Given the description of an element on the screen output the (x, y) to click on. 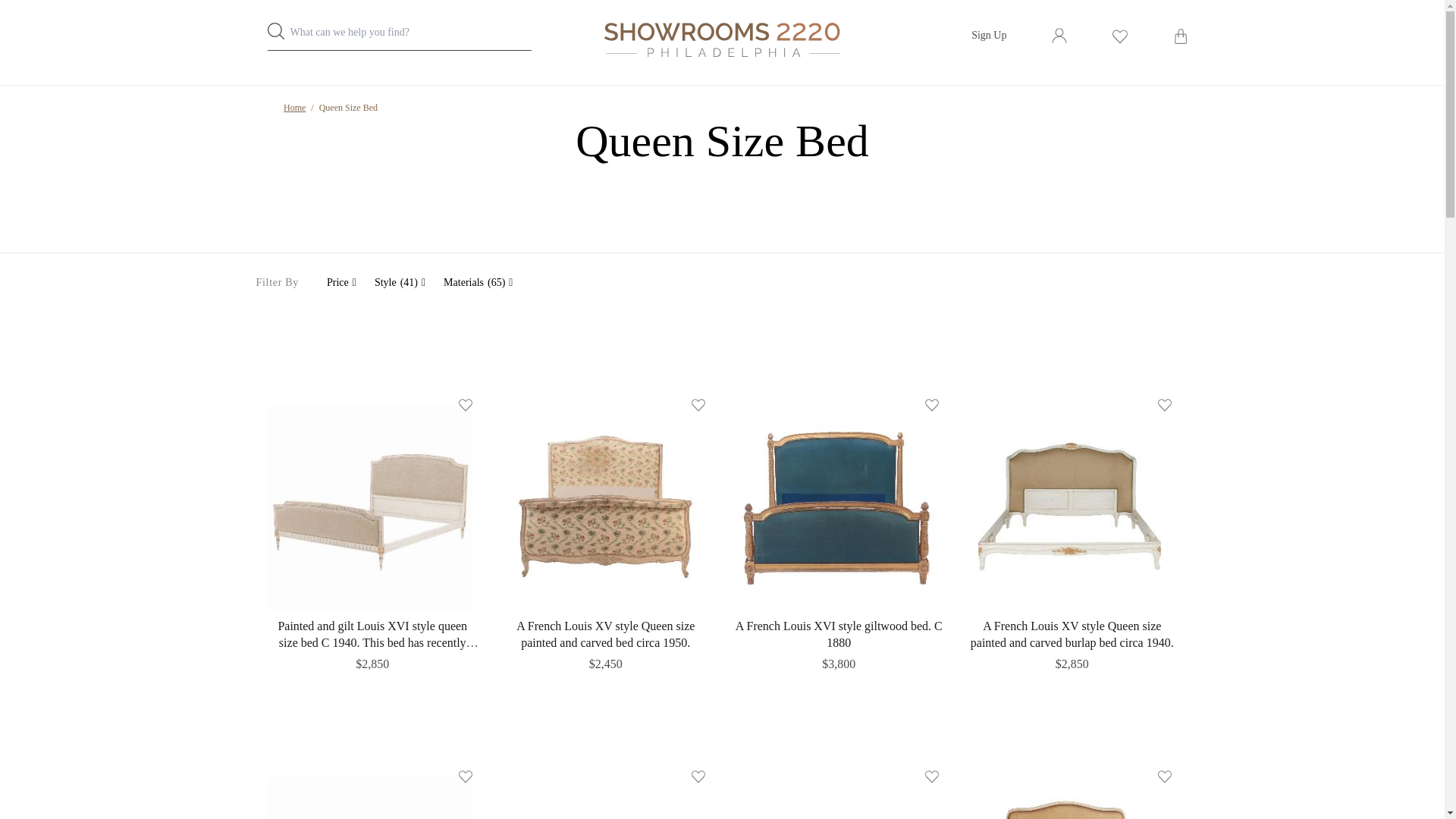
Sign Up (988, 34)
